Given the description of an element on the screen output the (x, y) to click on. 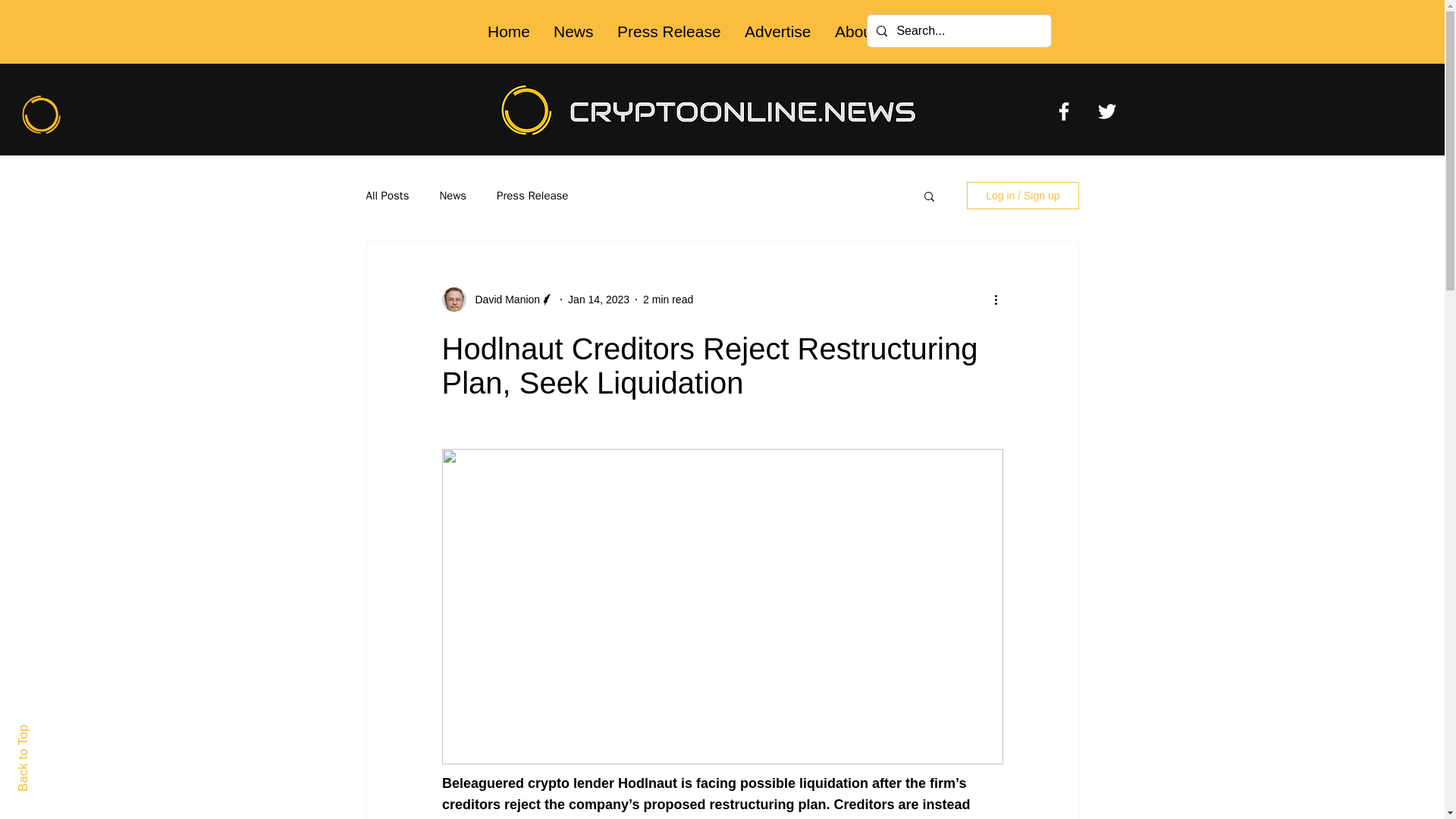
David Manion (502, 299)
Jan 14, 2023 (597, 298)
All Posts (387, 195)
Press Release (668, 31)
Home (508, 31)
News (573, 31)
News (452, 195)
Press Release (531, 195)
2 min read (668, 298)
Advertise (777, 31)
Back to Top (49, 730)
About (855, 31)
